Given the description of an element on the screen output the (x, y) to click on. 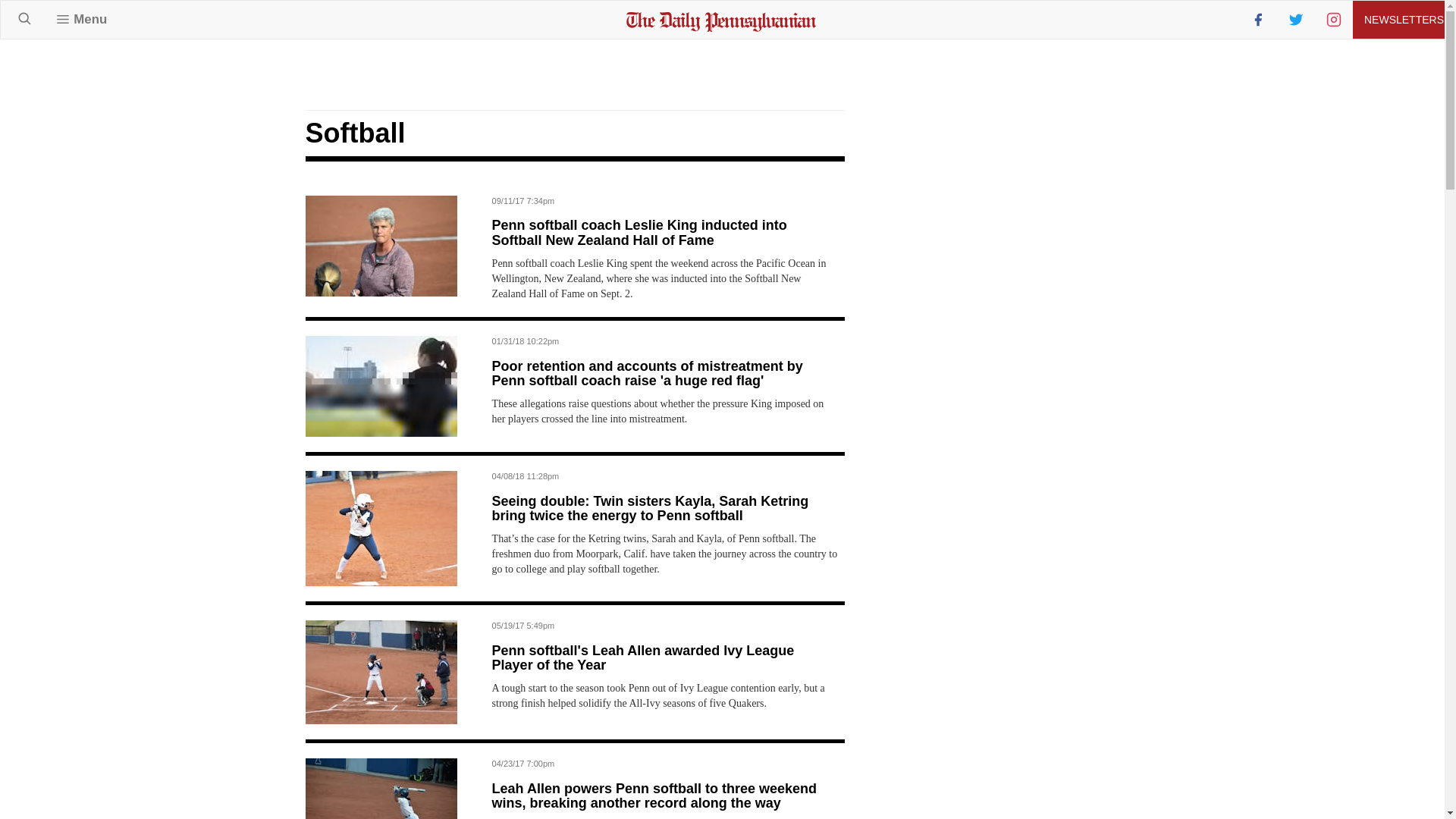
Menu (81, 18)
